Given the description of an element on the screen output the (x, y) to click on. 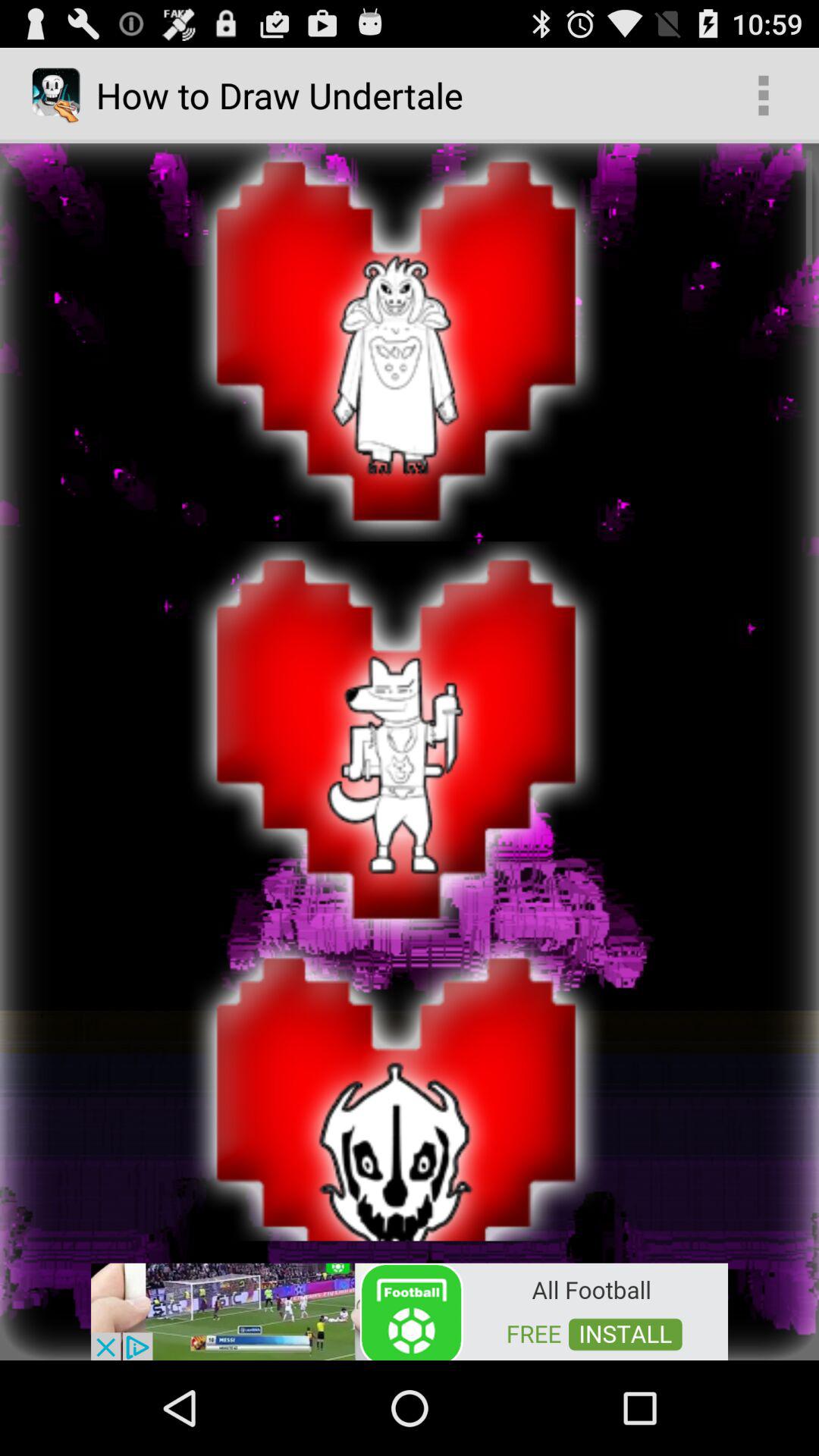
advertisement (409, 1310)
